Given the description of an element on the screen output the (x, y) to click on. 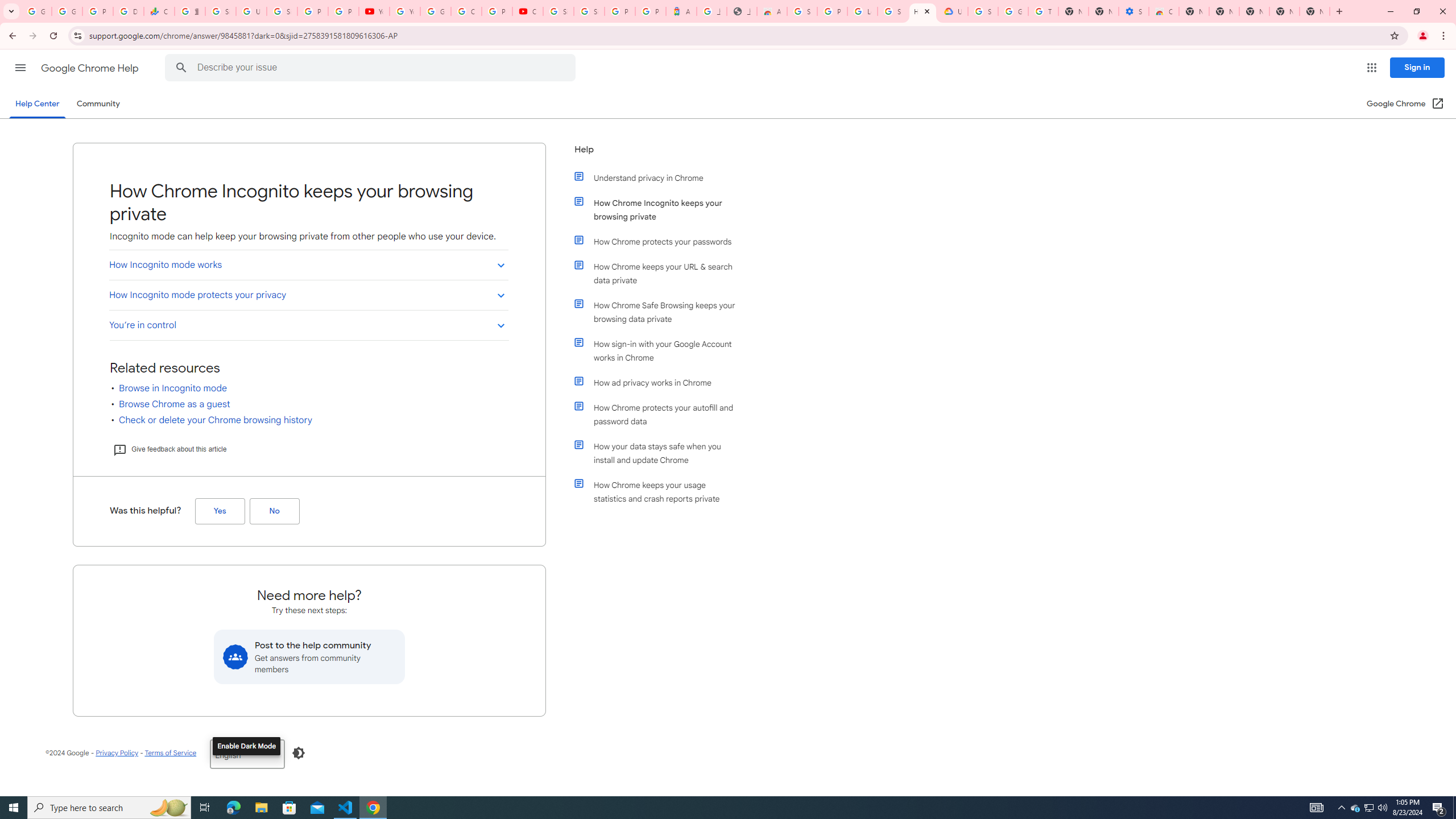
Yes (Was this helpful?) (219, 510)
How Incognito mode protects your privacy (308, 294)
Describe your issue (371, 67)
Give feedback about this article (169, 449)
Google Workspace Admin Community (36, 11)
Understand privacy in Chrome (661, 177)
Sign in - Google Accounts (801, 11)
Sign in - Google Accounts (282, 11)
